Given the description of an element on the screen output the (x, y) to click on. 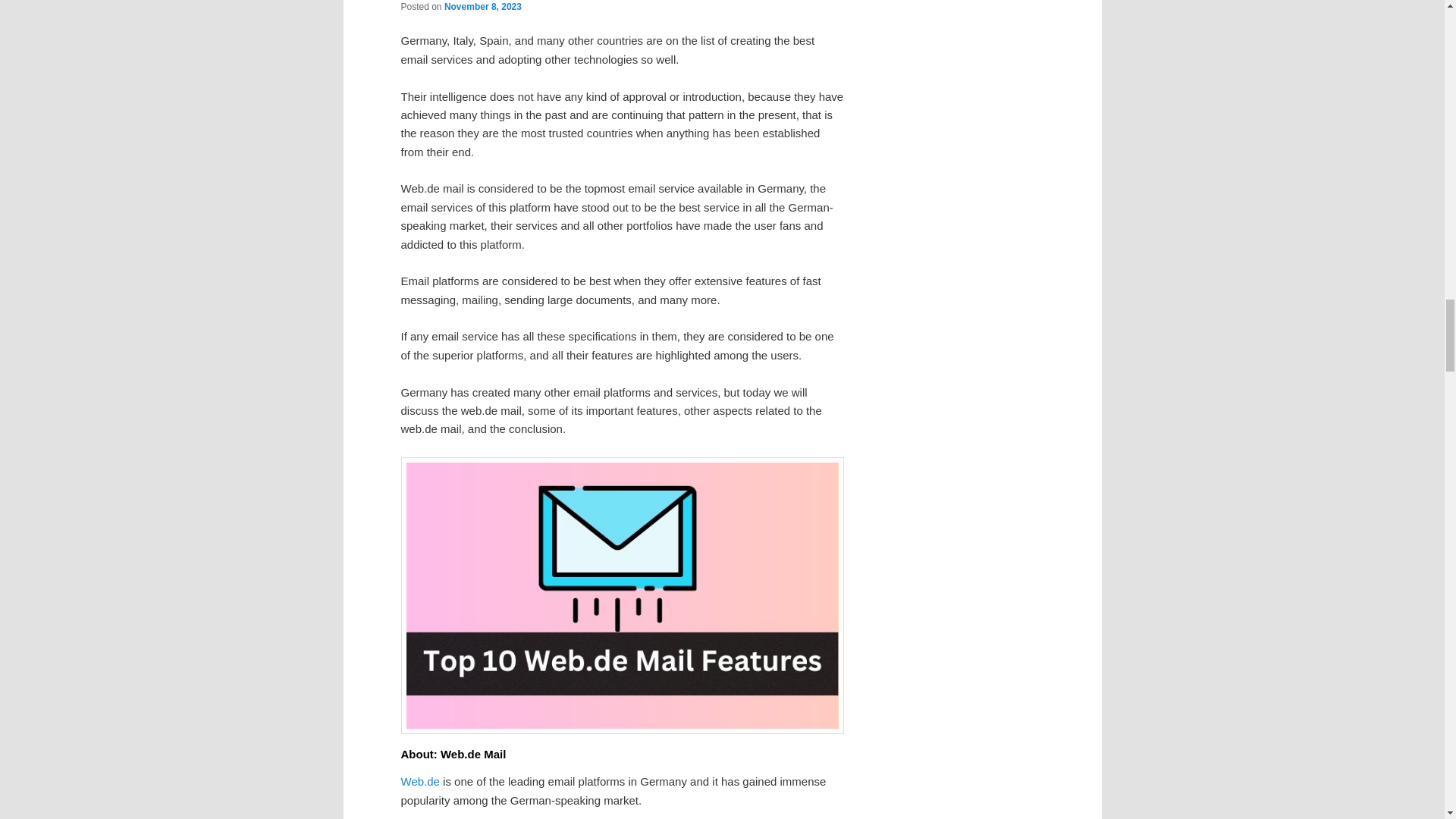
November 8, 2023 (482, 6)
12:45 pm (482, 6)
Web.de (419, 780)
